Given the description of an element on the screen output the (x, y) to click on. 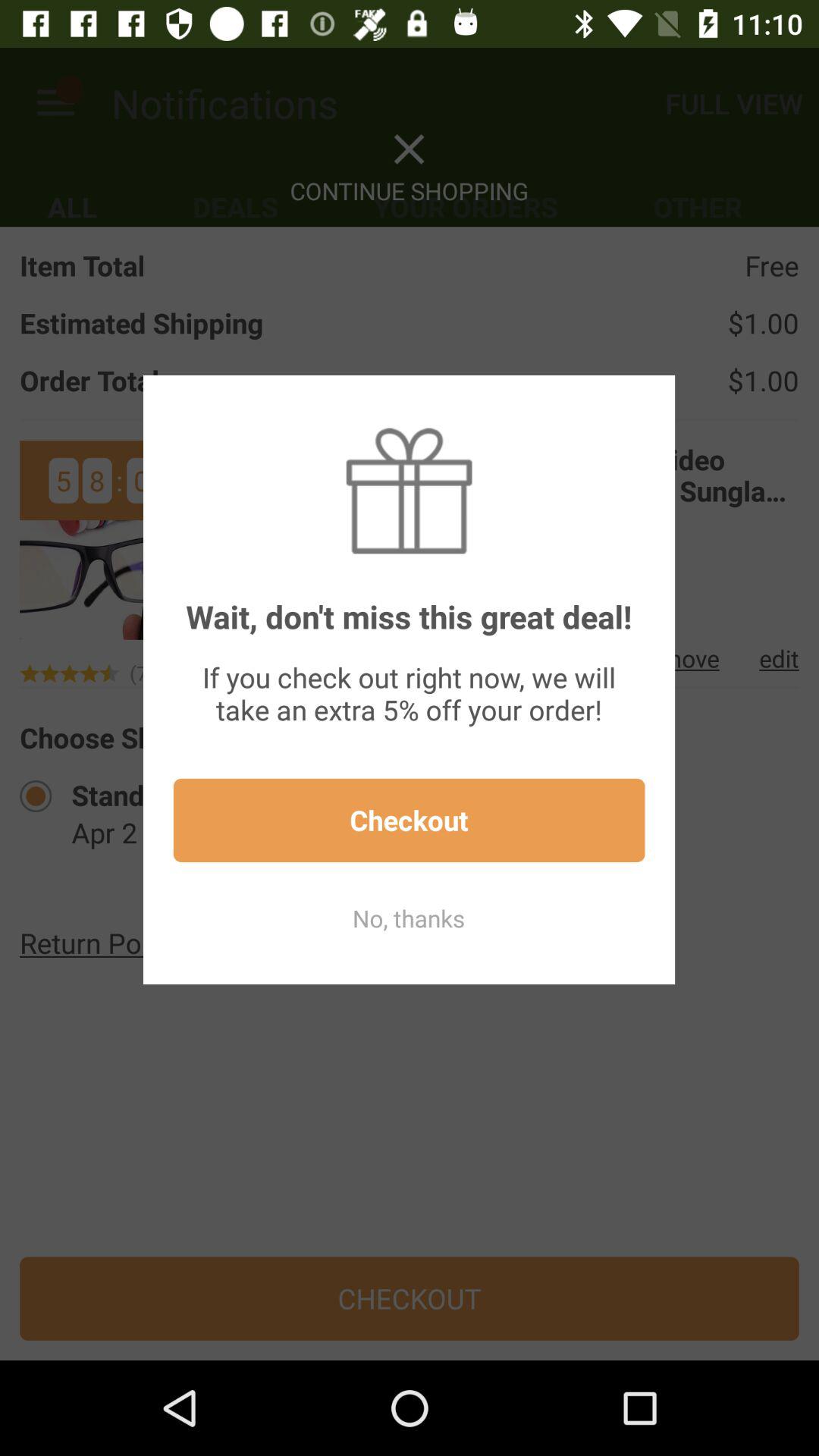
flip to the no, thanks icon (408, 918)
